Given the description of an element on the screen output the (x, y) to click on. 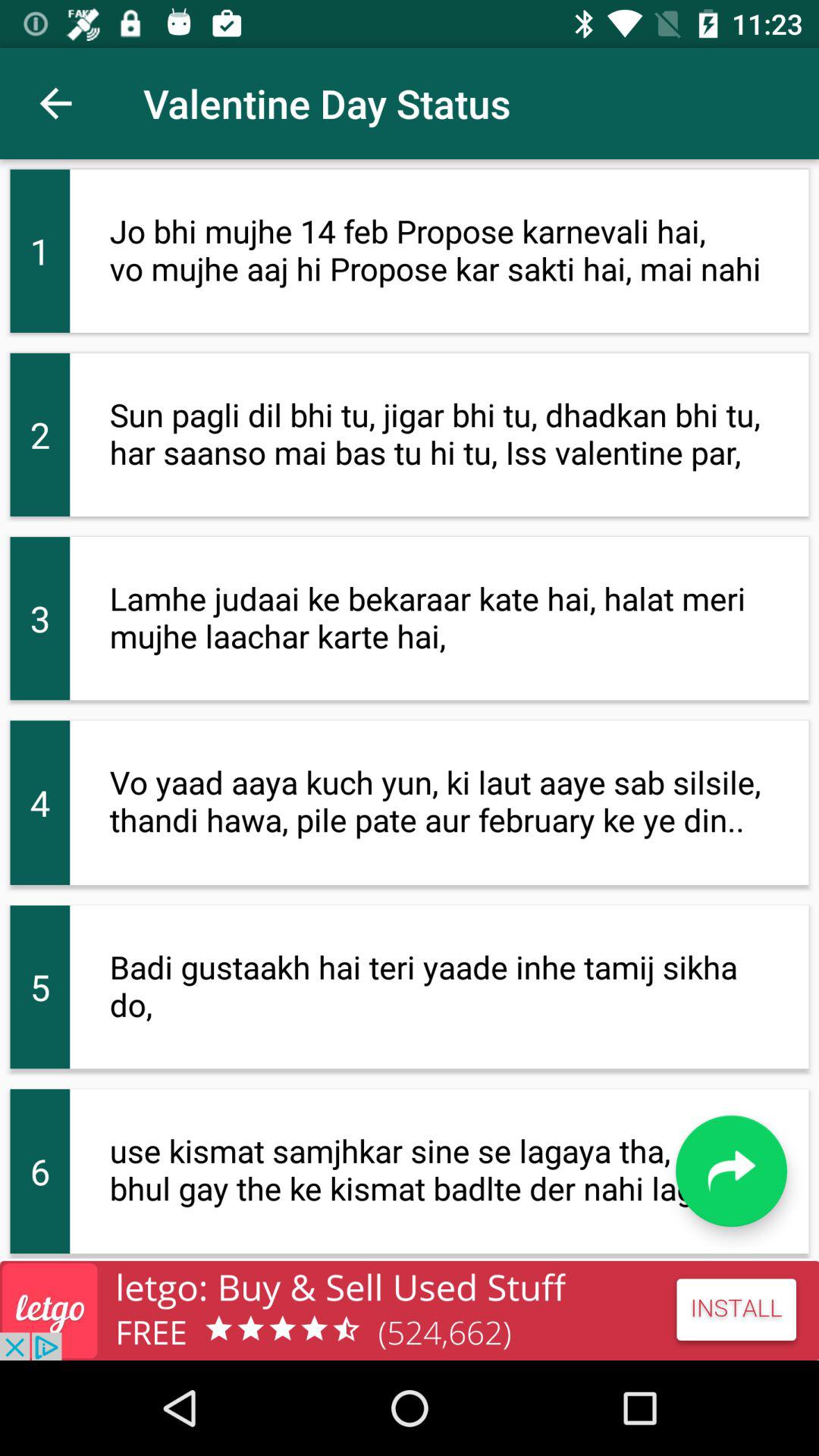
send option (731, 1170)
